Given the description of an element on the screen output the (x, y) to click on. 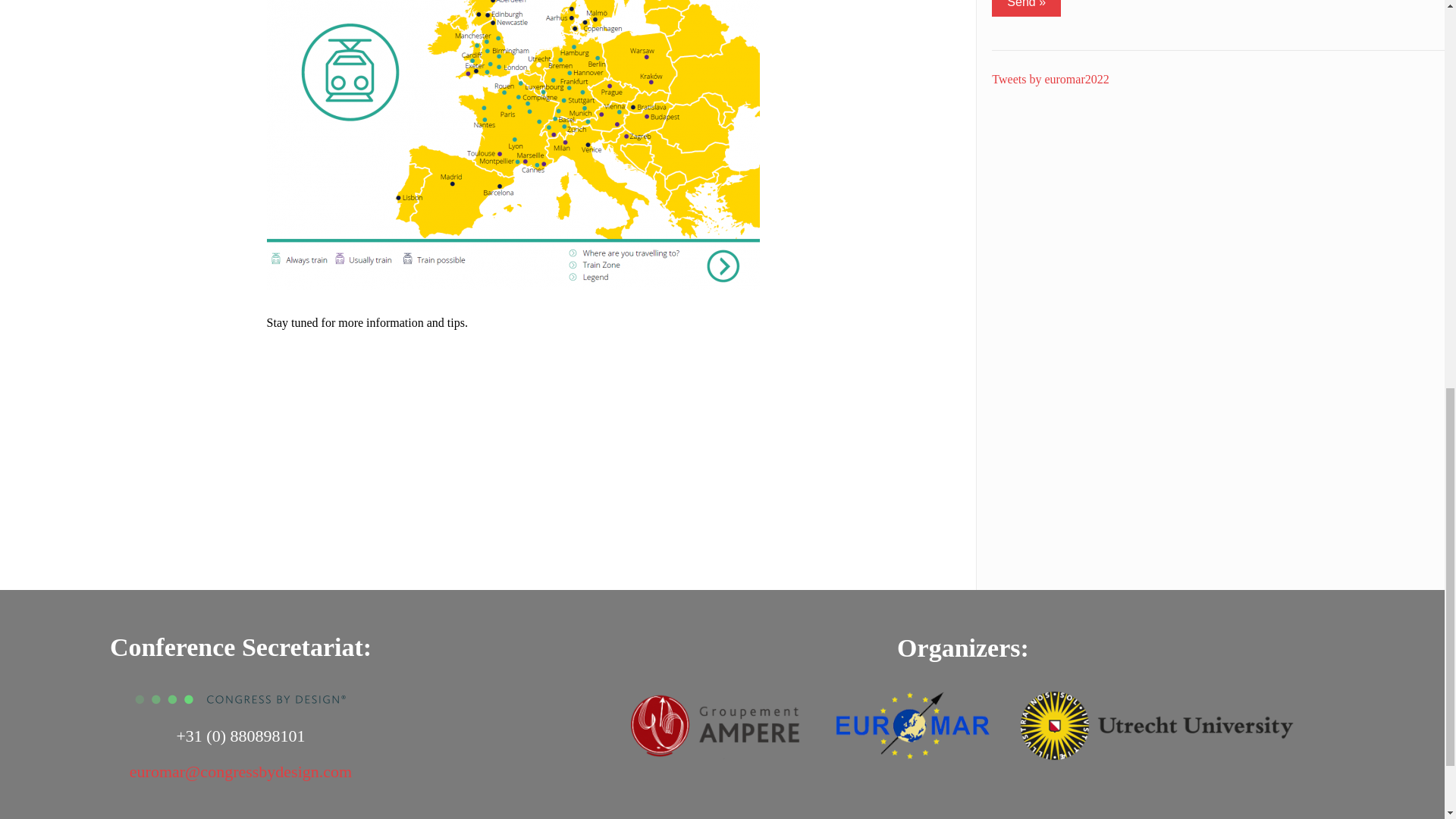
Tweets by euromar2022 (1049, 78)
